Given the description of an element on the screen output the (x, y) to click on. 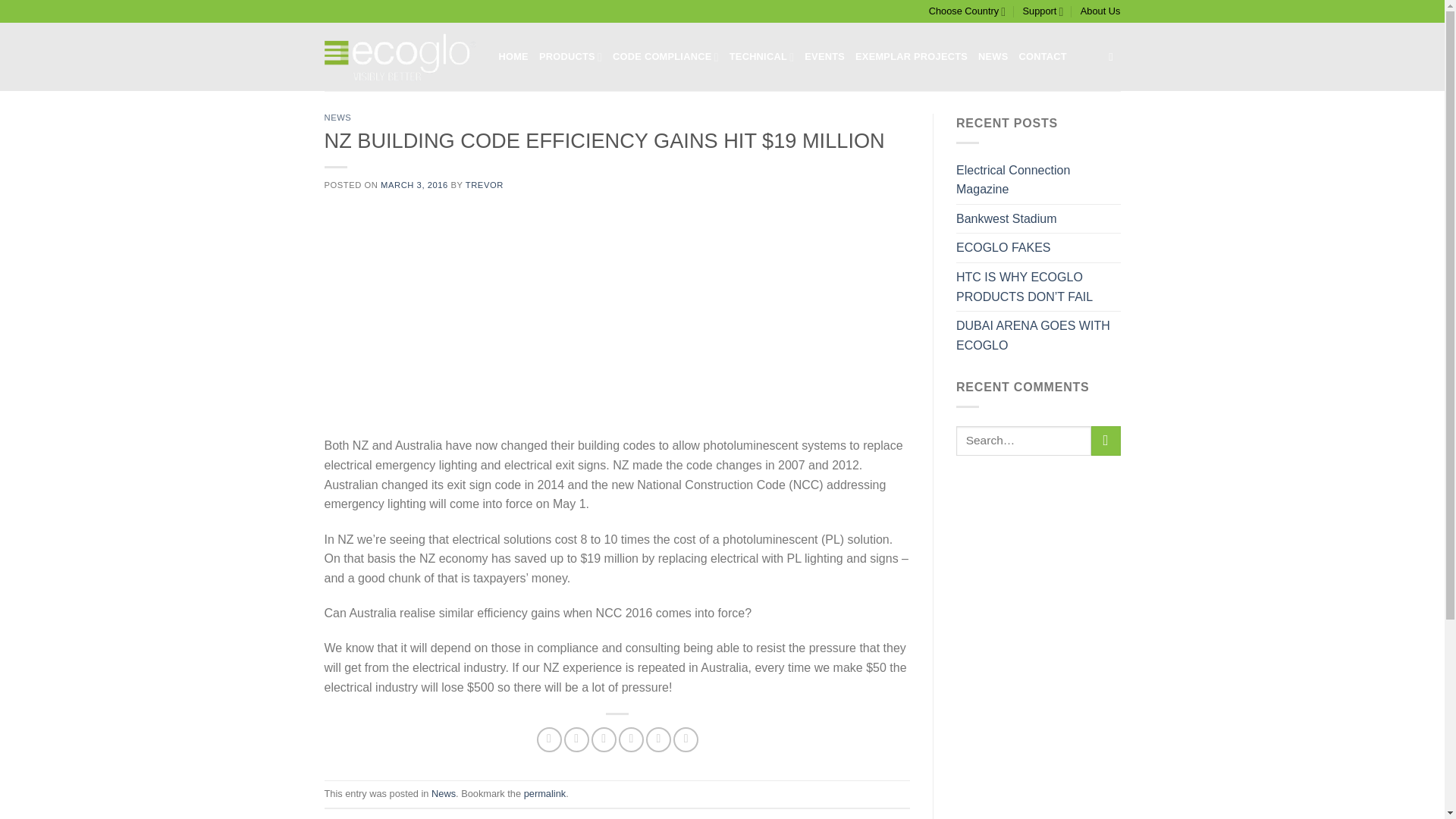
Send us your technical queries (1043, 11)
HOME (513, 56)
Pin on Pinterest (630, 739)
Choose Country (967, 11)
Share on LinkedIn (685, 739)
Building Code Solutions (665, 56)
Ecoglo Hong Kong - Cost-effective Safety Lighting (400, 56)
About Us (1100, 11)
Support (1043, 11)
Share on Facebook (549, 739)
